Given the description of an element on the screen output the (x, y) to click on. 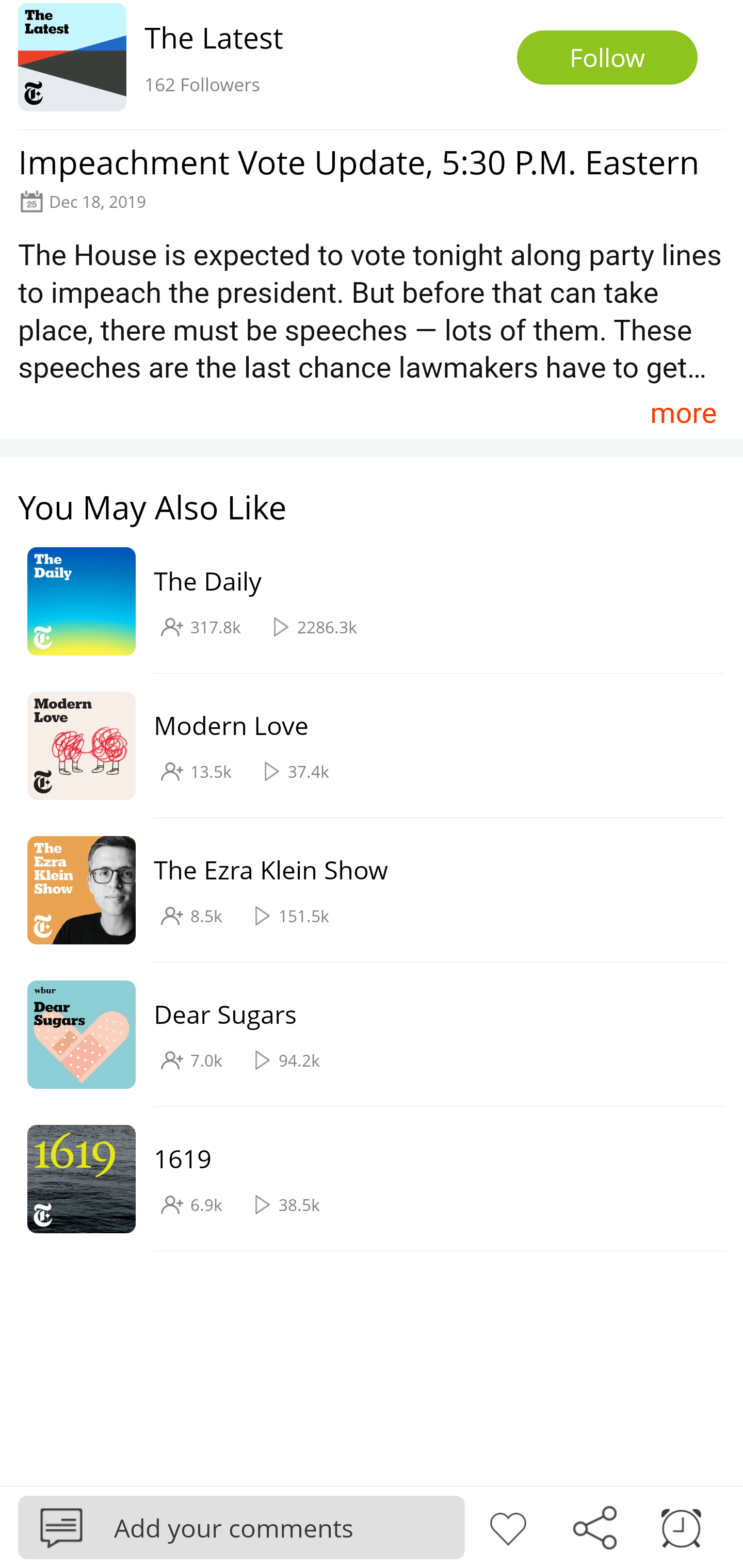
The Latest 162 Followers Follow (371, 65)
Follow (607, 56)
more (682, 412)
The Daily 317.8k 2286.3k (362, 601)
Modern Love 13.5k 37.4k (362, 746)
The Ezra Klein Show 8.5k 151.5k (362, 890)
Dear Sugars 7.0k 94.2k (362, 1034)
1619 6.9k 38.5k (362, 1179)
Like (508, 1526)
Share (594, 1526)
Sleep timer (681, 1526)
Podbean Add your comments (241, 1526)
